Given the description of an element on the screen output the (x, y) to click on. 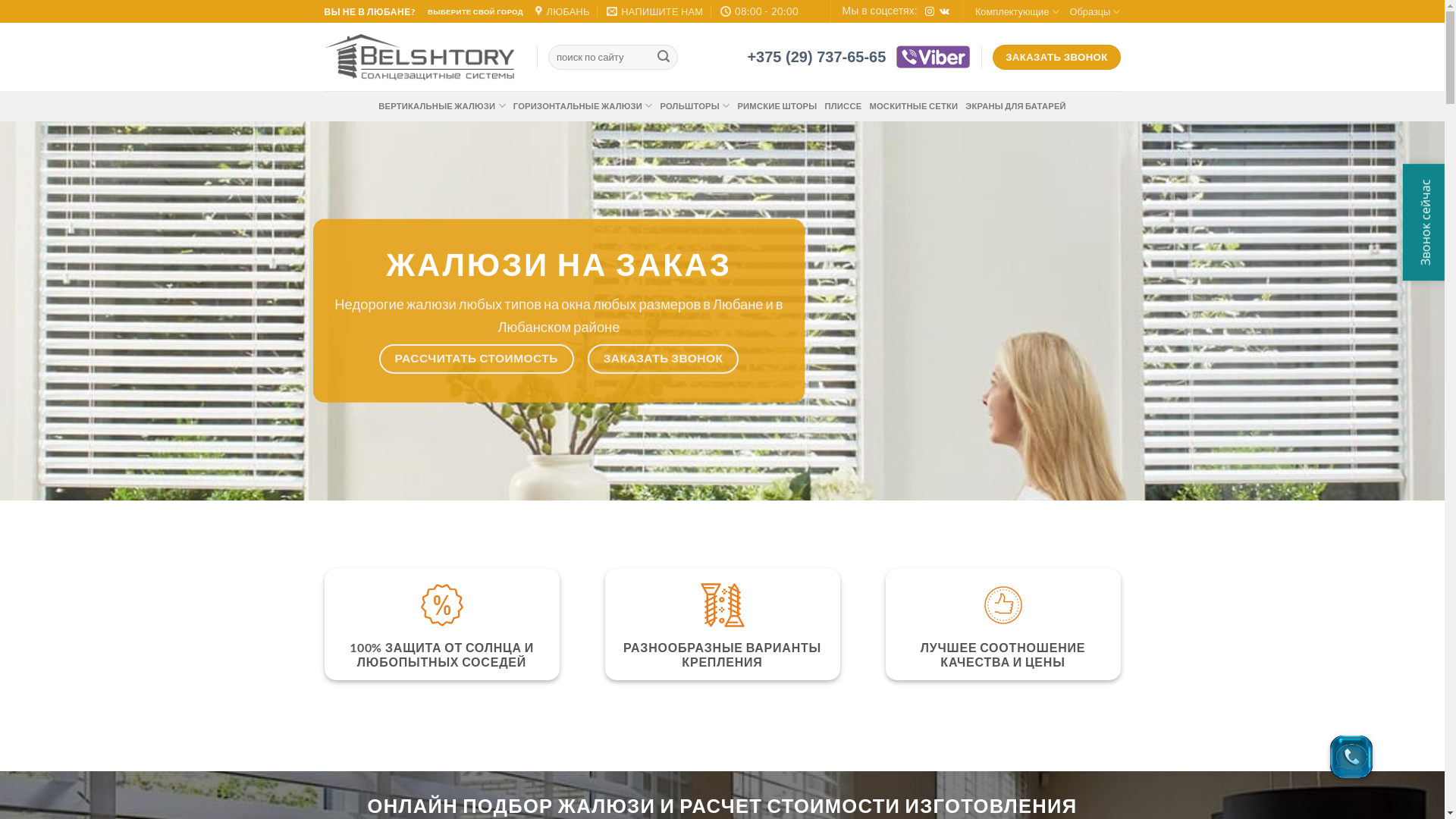
+375 (29) 737-65-65 Element type: text (815, 56)
08:00 - 20:00 Element type: text (759, 11)
